Given the description of an element on the screen output the (x, y) to click on. 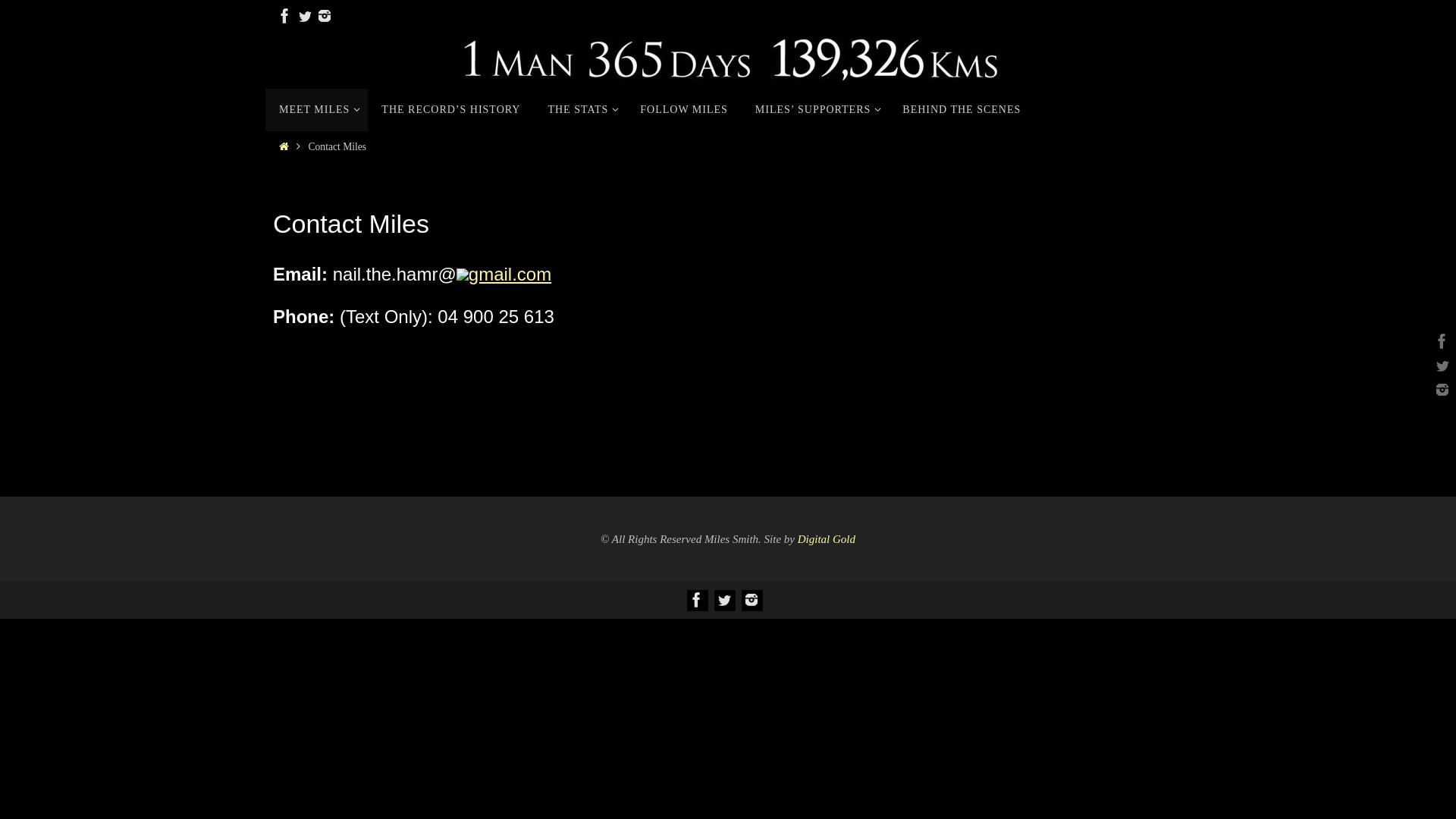
Digital Gold Element type: text (826, 539)
MEET MILES Element type: text (316, 109)
https://www.facebook.com/GoMilesAU Element type: hover (696, 599)
https://www.facebook.com/GoMilesAU Element type: hover (285, 15)
https://twitter.com/GoMilesAU Element type: hover (304, 15)
https://instagram.com/gomilesau Element type: hover (1439, 389)
https://twitter.com/GoMilesAU Element type: hover (1439, 365)
Home Element type: text (283, 146)
gmail.com Element type: text (509, 273)
https://instagram.com/gomilesau Element type: hover (751, 599)
https://instagram.com/gomilesau Element type: hover (324, 15)
FOLLOW MILES Element type: text (683, 109)
https://www.facebook.com/GoMilesAU Element type: hover (1439, 340)
Go Miles Element type: hover (728, 56)
THE STATS Element type: text (579, 109)
https://twitter.com/GoMilesAU Element type: hover (724, 599)
BEHIND THE SCENES Element type: text (961, 109)
